Given the description of an element on the screen output the (x, y) to click on. 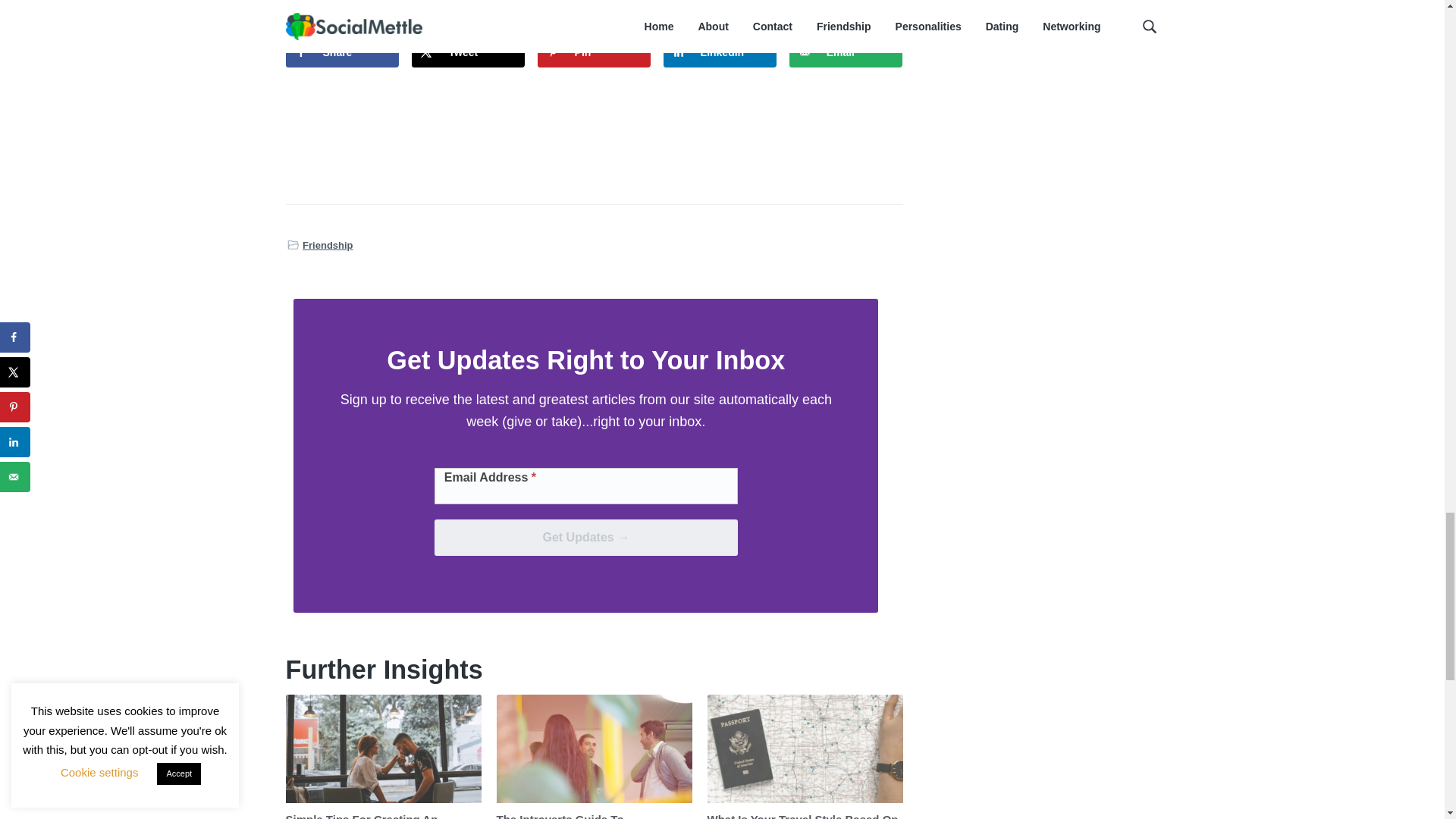
Friendship (327, 245)
LinkedIn (720, 51)
Email (845, 51)
Save to Pinterest (593, 51)
Share on X (468, 51)
The Introverts Guide To Overcoming Fear At Networking Events (582, 816)
Simple Tips For Creating An Engaging Online Dating Profile (368, 816)
Share (341, 51)
Tweet (468, 51)
Send over email (845, 51)
Share on Facebook (341, 51)
Pin (593, 51)
